Given the description of an element on the screen output the (x, y) to click on. 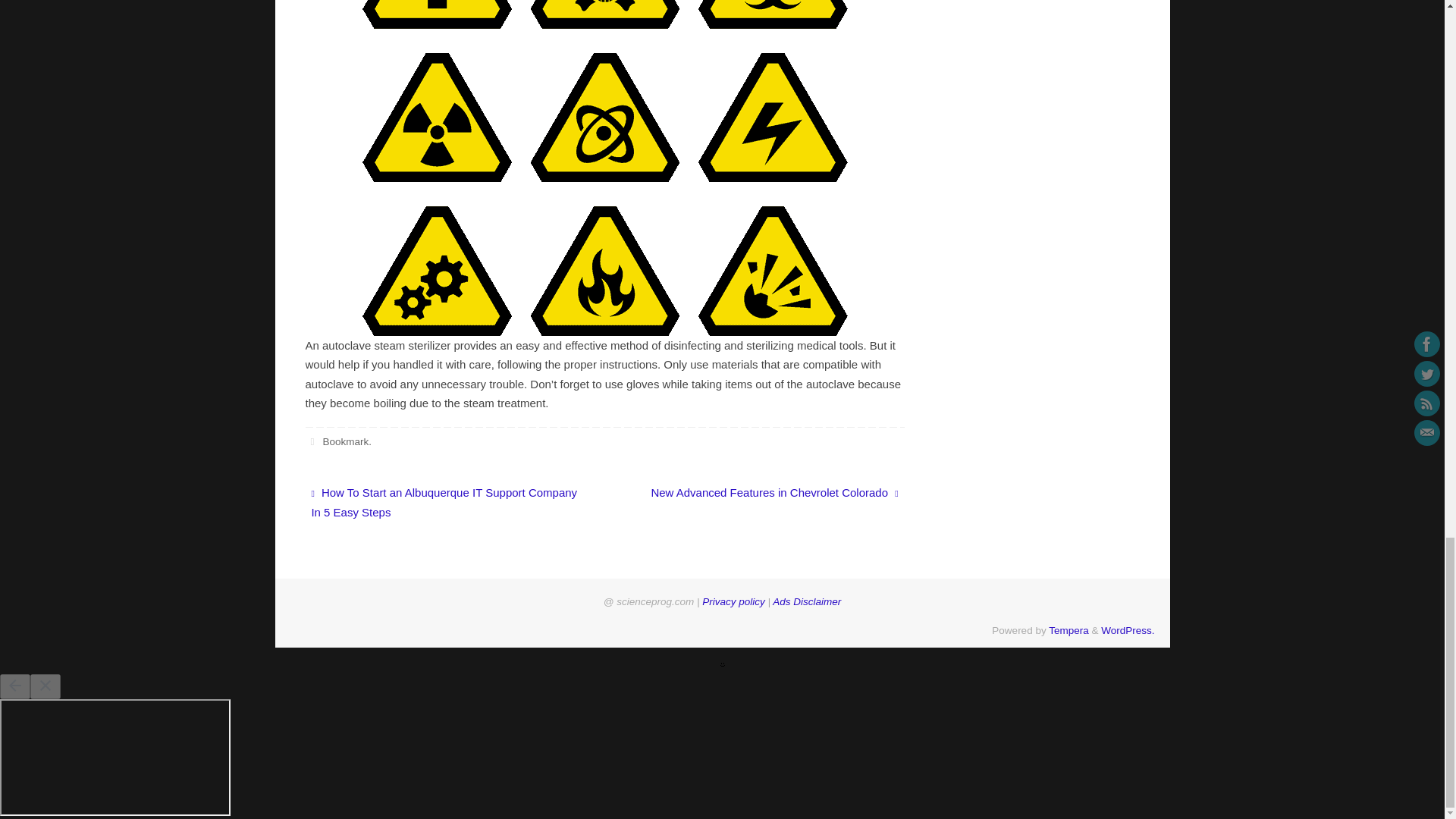
New Advanced Features in Chevrolet Colorado (763, 492)
Bookmark (344, 441)
